Given the description of an element on the screen output the (x, y) to click on. 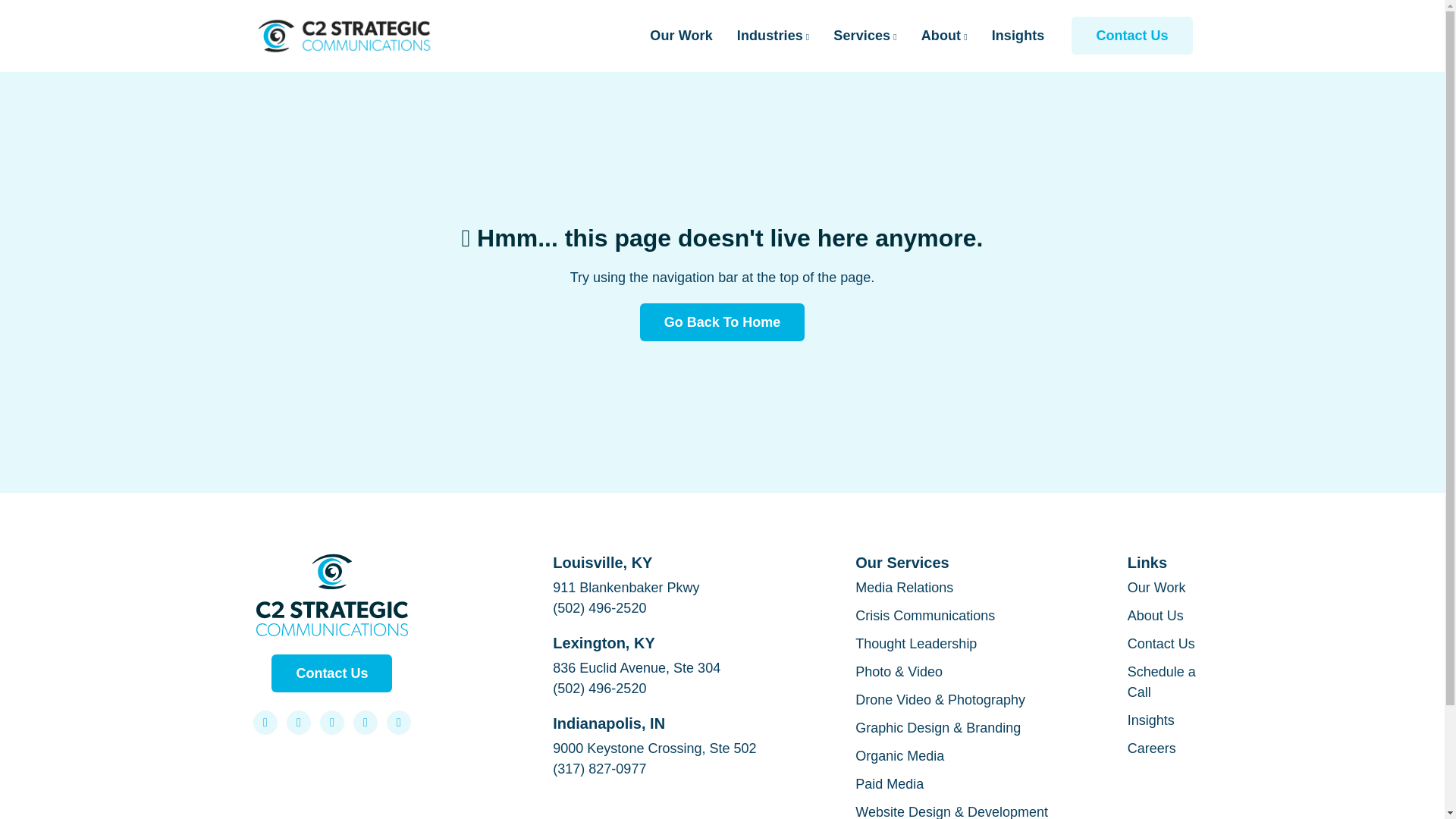
Industries (772, 35)
Our Work (680, 35)
Services (864, 35)
